Given the description of an element on the screen output the (x, y) to click on. 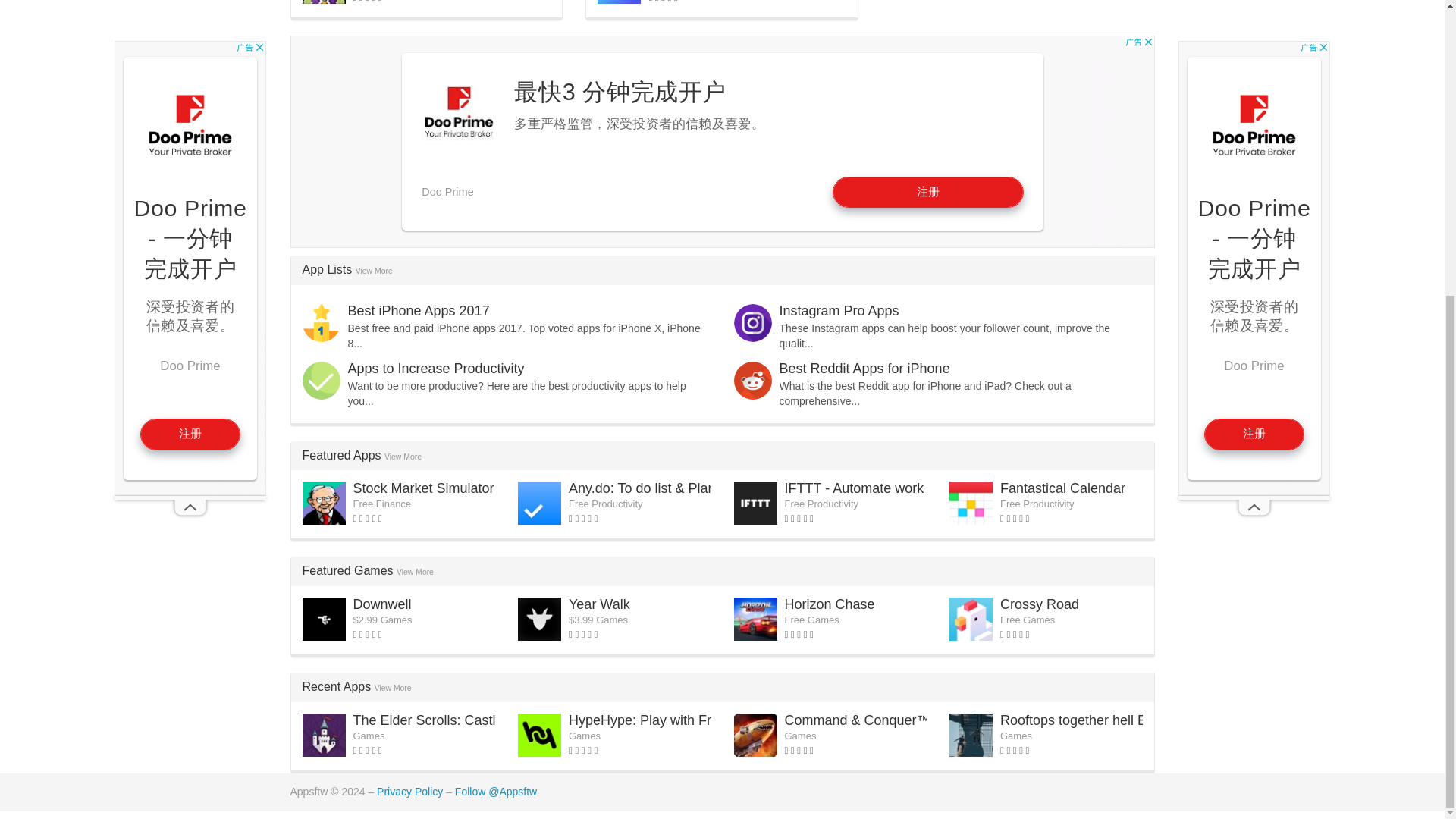
Best iPhone Apps 2017 (418, 310)
Instagram Pro Apps (838, 310)
Apps to Increase Productivity (435, 368)
